Given the description of an element on the screen output the (x, y) to click on. 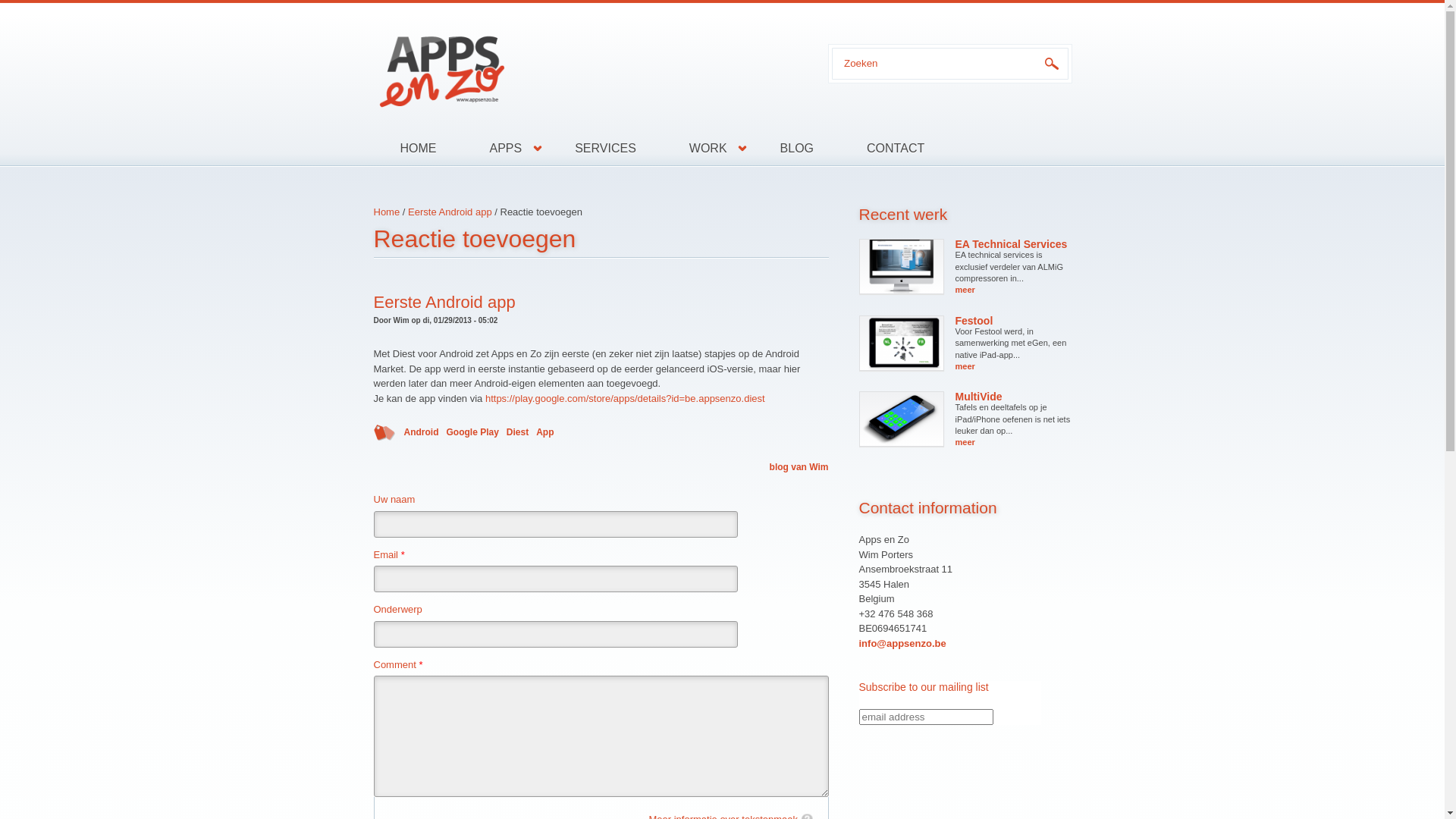
HOME Element type: text (417, 148)
SERVICES Element type: text (605, 148)
Android Element type: text (420, 431)
Subscribe Element type: text (895, 736)
Overslaan en naar de inhoud gaan Element type: text (75, 2)
EA Technical Services Element type: text (1011, 244)
BLOG Element type: text (796, 148)
meer Element type: text (965, 365)
meer Element type: text (965, 441)
Eerste Android app Element type: text (443, 301)
info@appsenzo.be Element type: text (901, 643)
Google Play Element type: text (471, 431)
meer Element type: text (965, 289)
App Element type: text (544, 431)
Festool Element type: text (974, 320)
MultiVide Element type: text (978, 396)
CONTACT Element type: text (882, 148)
MultiVide Element type: hover (901, 418)
Eerste Android app Element type: text (449, 211)
WORK Element type: text (707, 148)
Home Element type: text (386, 211)
Diest Element type: text (517, 431)
blog van Wim Element type: text (798, 466)
Home Element type: hover (585, 67)
APPS Element type: text (505, 148)
